Given the description of an element on the screen output the (x, y) to click on. 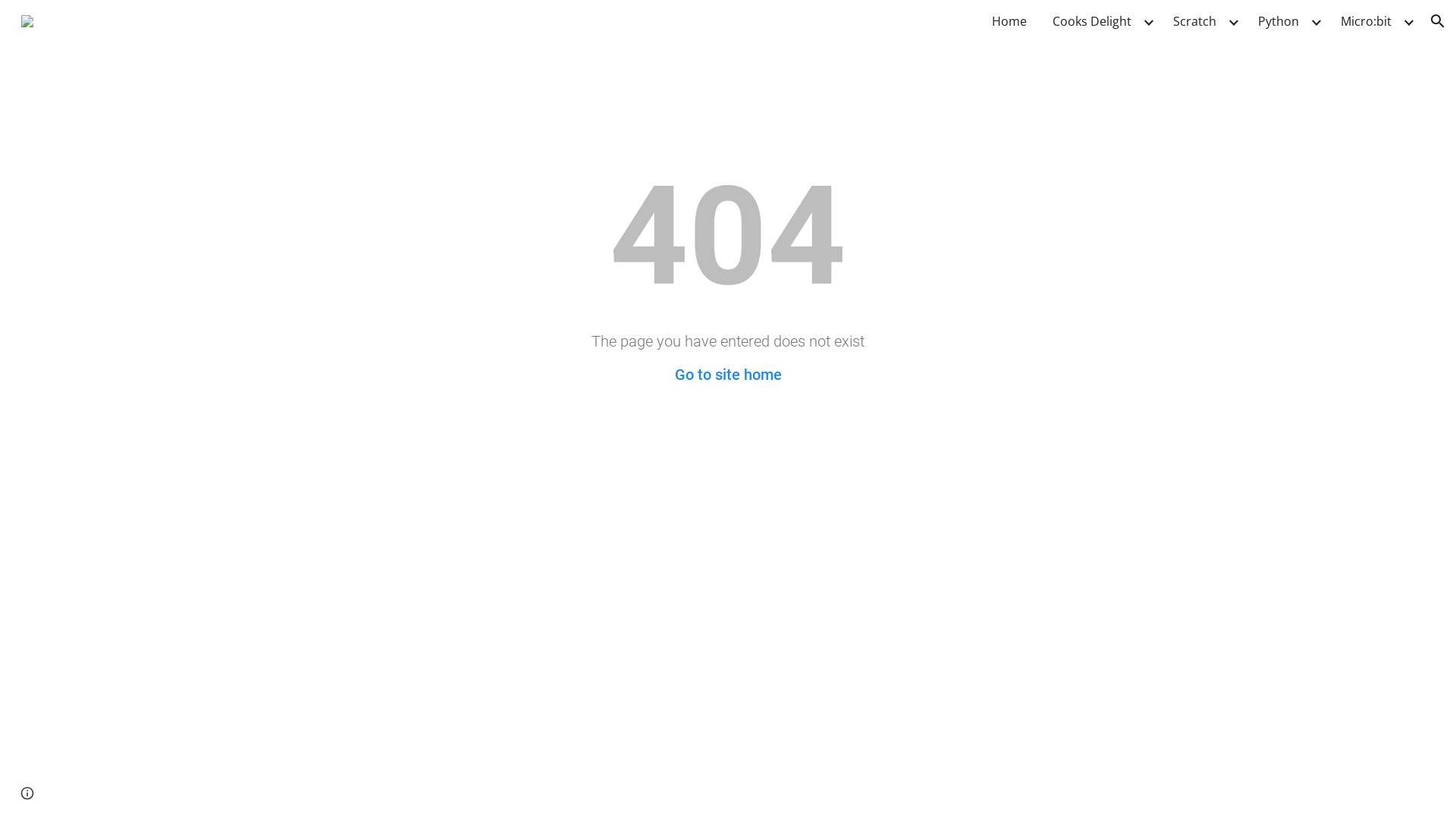
Micro:bit Element type: text (1366, 20)
Expand/Collapse Element type: hover (1147, 20)
Expand/Collapse Element type: hover (1315, 20)
Home Element type: text (1009, 20)
Go to site home Element type: text (727, 374)
Expand/Collapse Element type: hover (1232, 20)
Cooks Delight Element type: text (1091, 20)
Python Element type: text (1278, 20)
Scratch Element type: text (1194, 20)
Expand/Collapse Element type: hover (1408, 20)
